Given the description of an element on the screen output the (x, y) to click on. 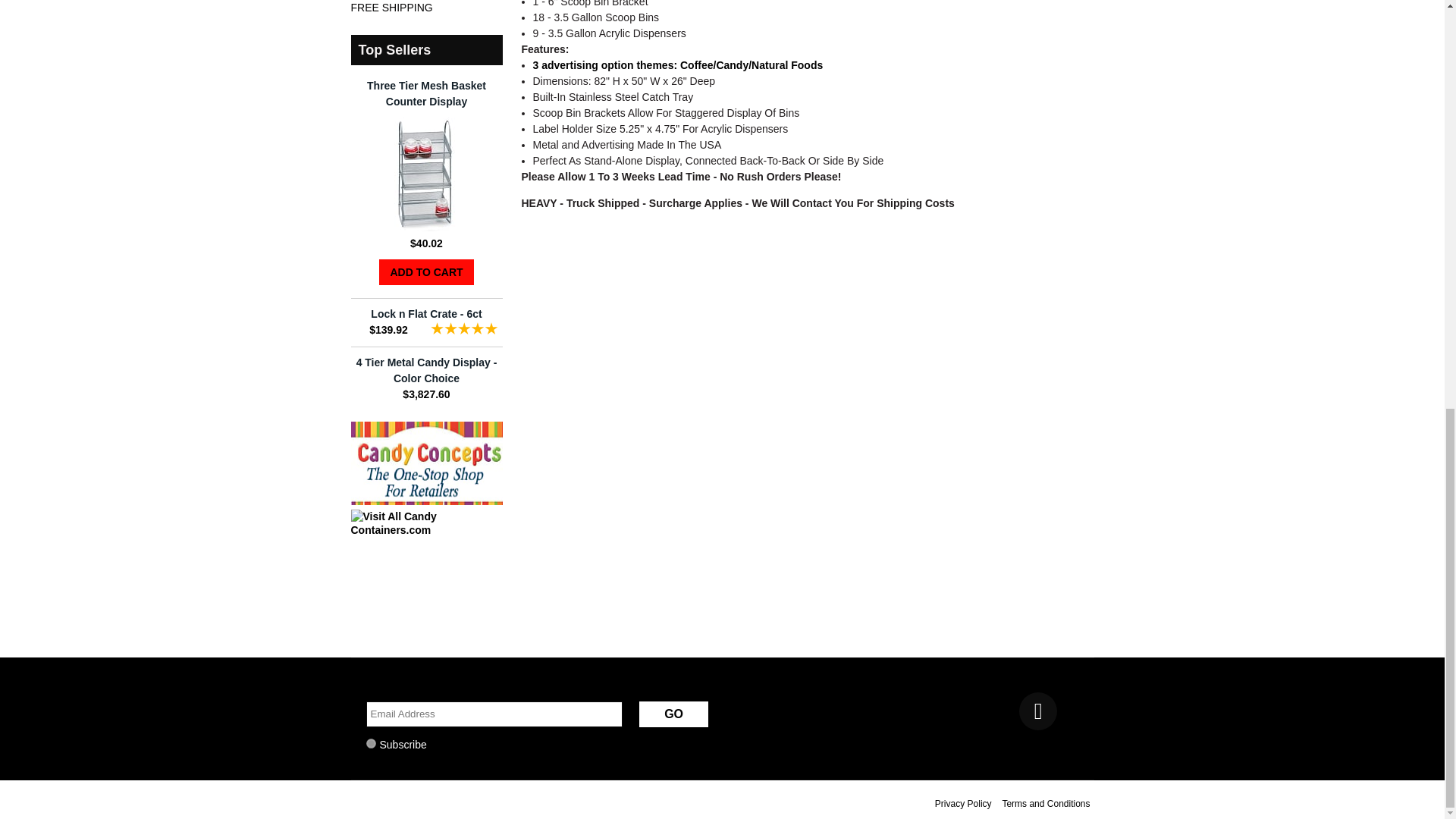
Visit Candy Concepts Today! (426, 500)
Add To Cart (425, 272)
View Themes Here (677, 64)
Three Tier Mesh Basket  Counter Display (426, 227)
1 (370, 743)
GO (673, 714)
